Given the description of an element on the screen output the (x, y) to click on. 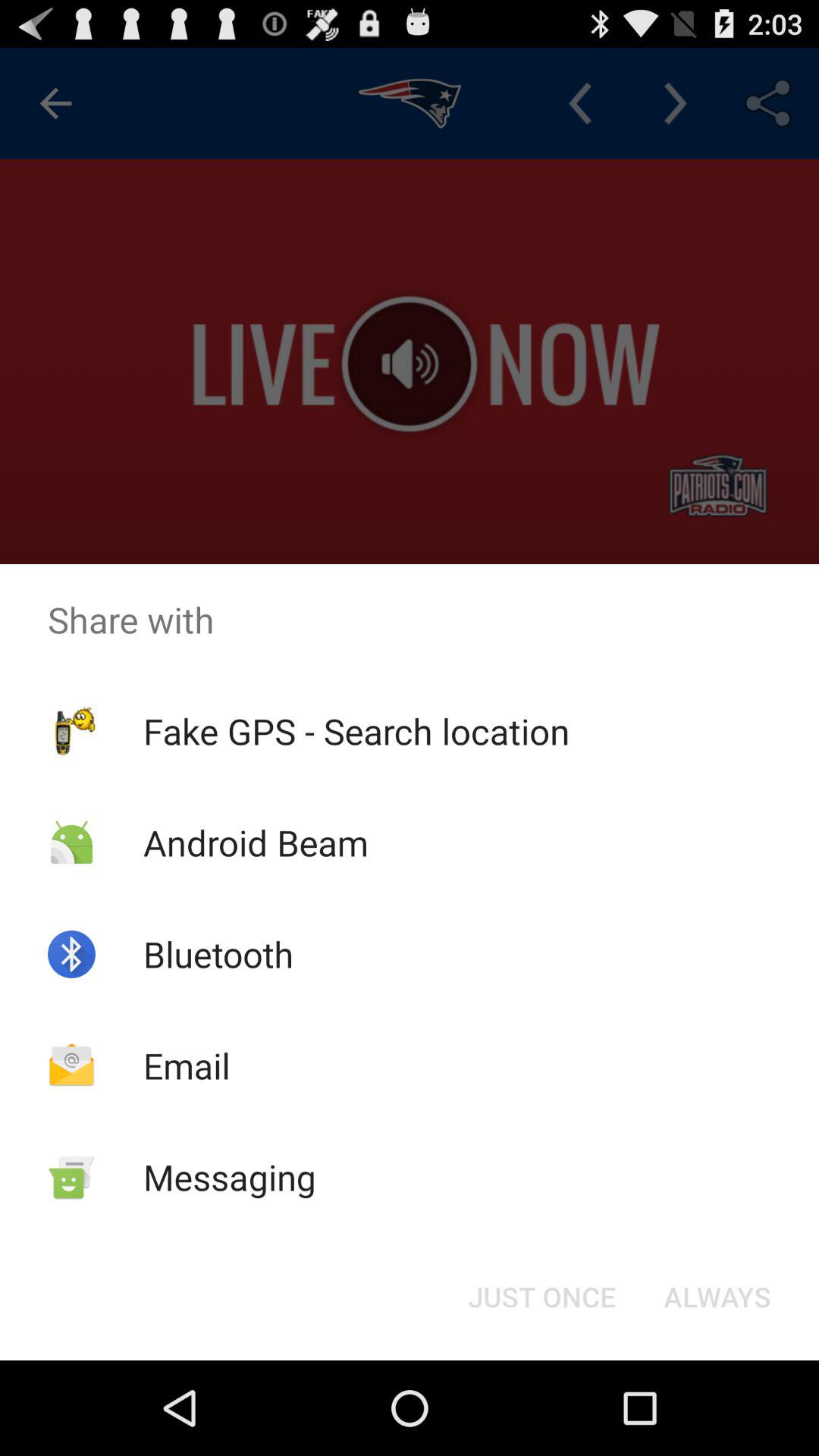
flip to android beam (255, 842)
